Given the description of an element on the screen output the (x, y) to click on. 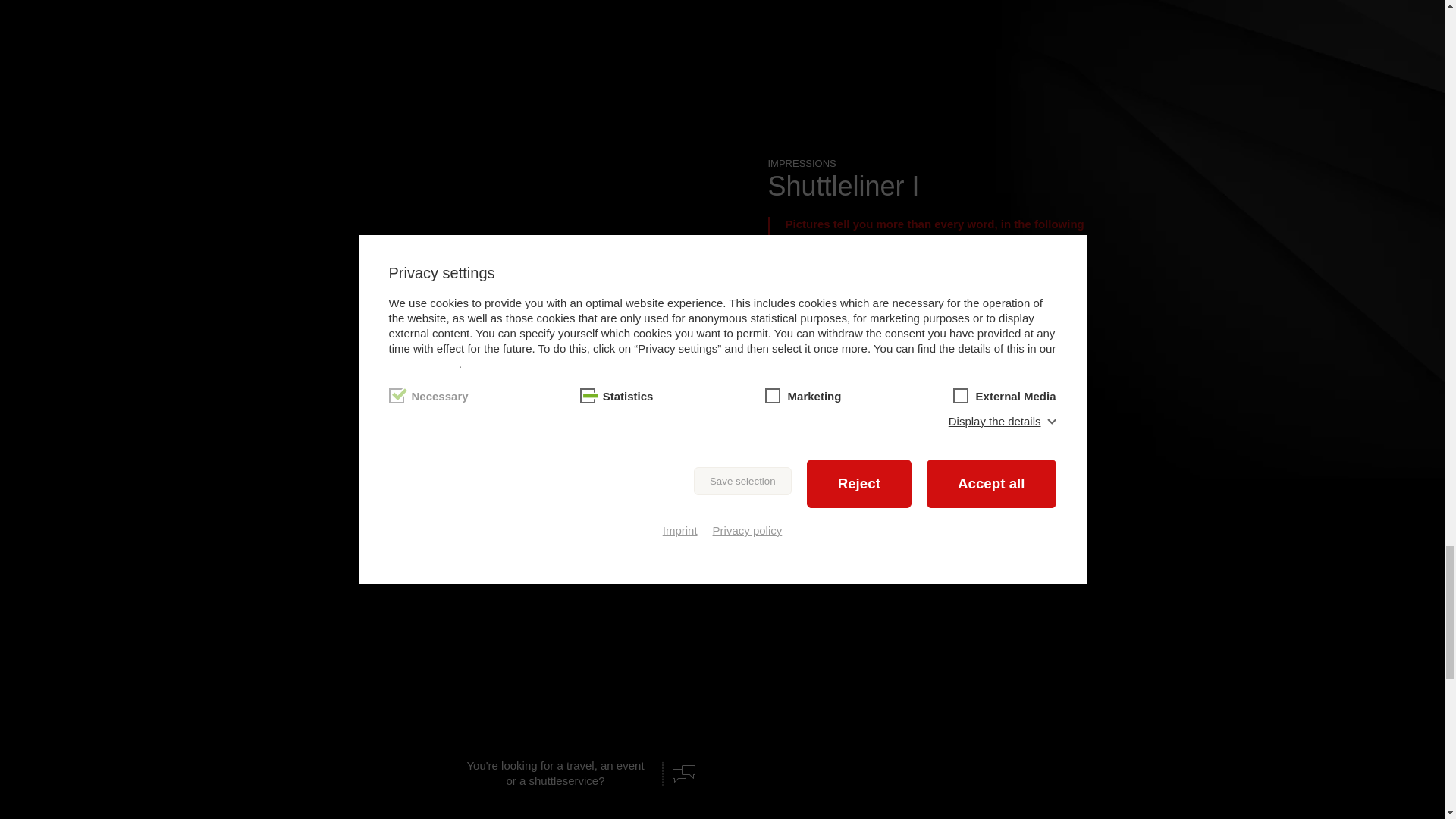
DOWNLOAD INFORMATION FILE PDF (887, 350)
